Given the description of an element on the screen output the (x, y) to click on. 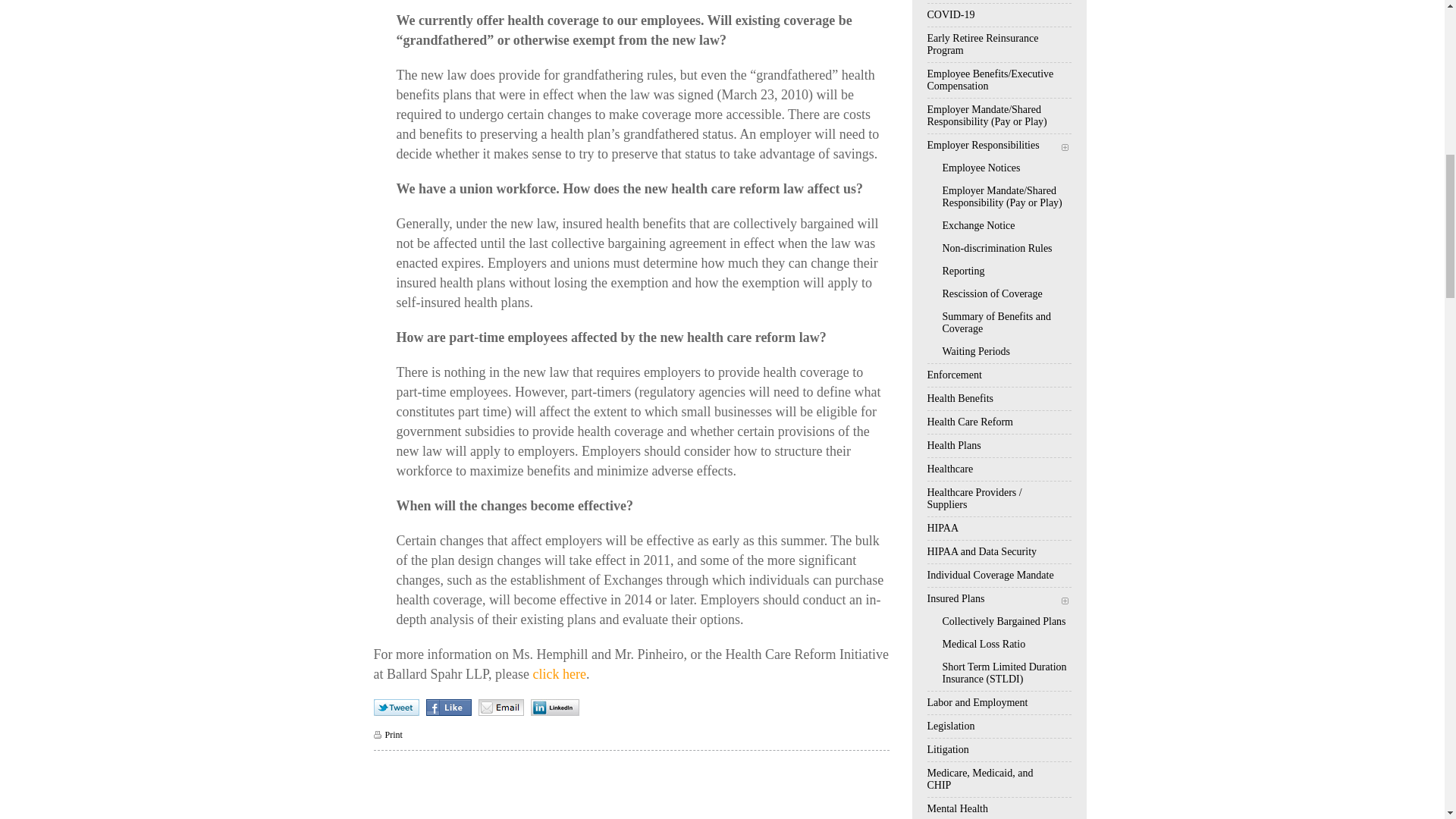
Email this post (501, 707)
Ballard Spahr's Health Care Reform Initiative (558, 673)
Share this post on LinkedIn (555, 707)
Tweet this post (397, 707)
Like this post (450, 707)
Print (386, 734)
click here (558, 673)
